Given the description of an element on the screen output the (x, y) to click on. 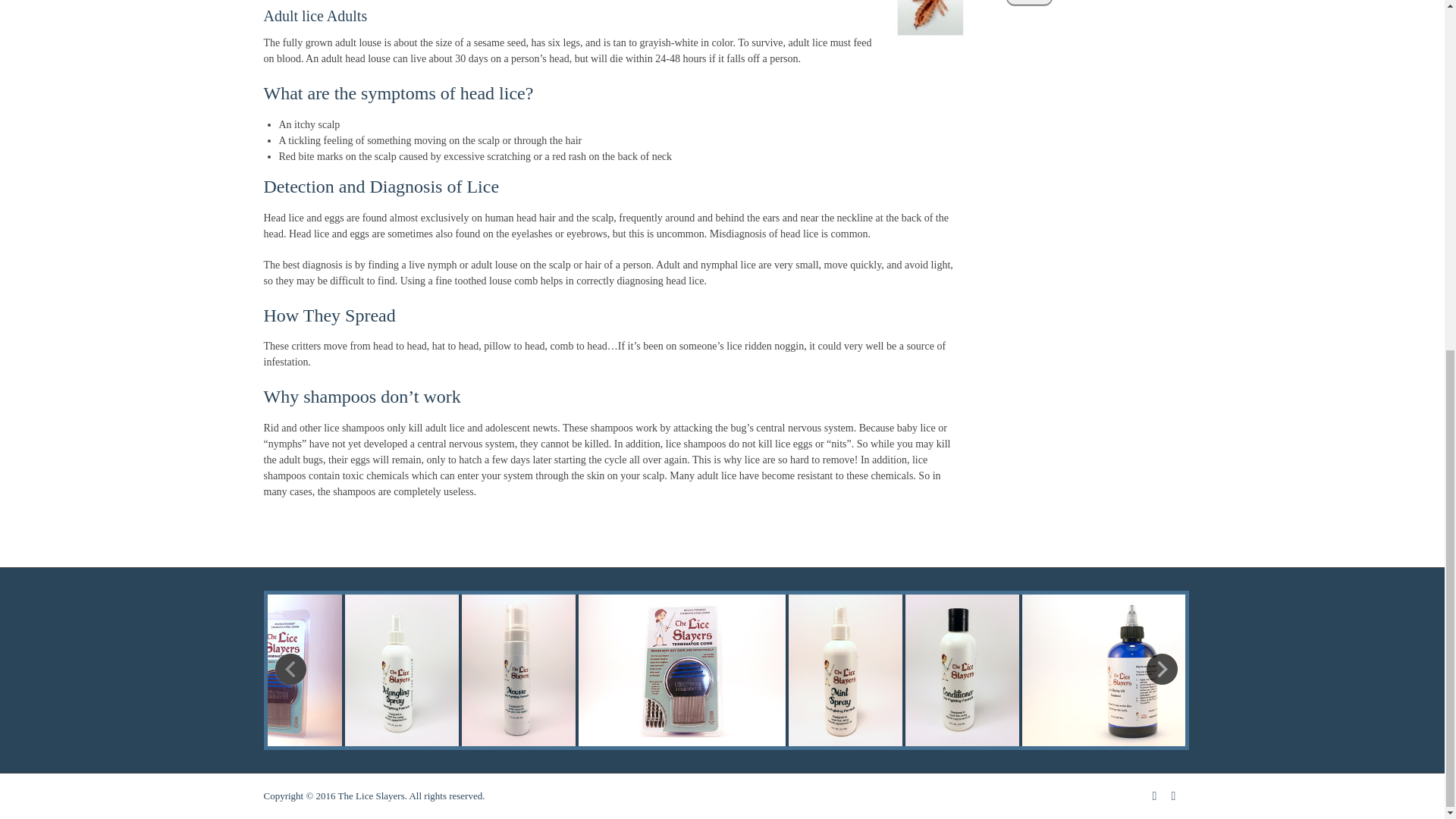
Submit (1029, 2)
Submit (1029, 2)
